Given the description of an element on the screen output the (x, y) to click on. 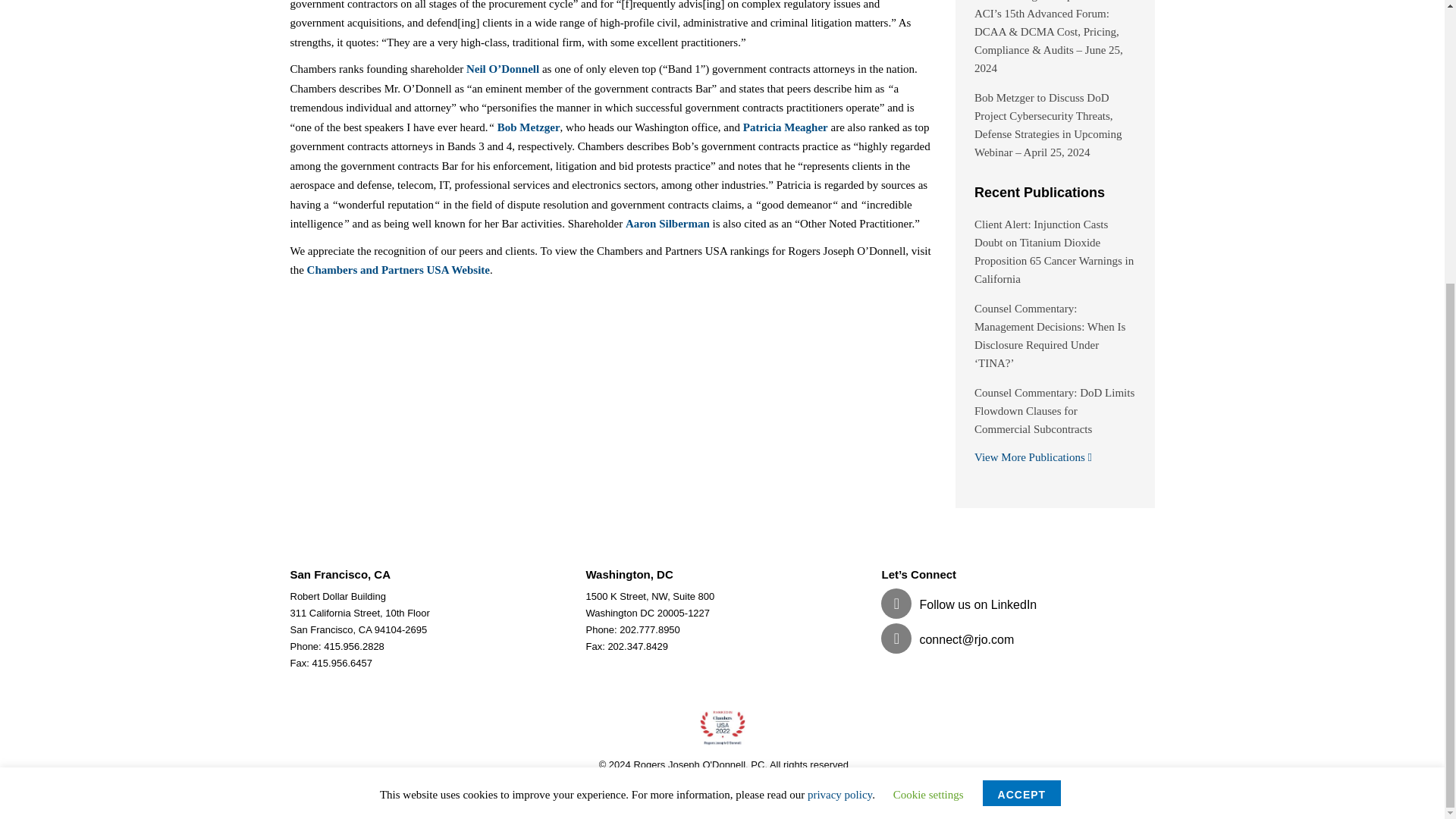
Privacy Policy (694, 781)
View More Publications (1033, 457)
Chambers and Partners USA Website (398, 269)
Bob Metzger (528, 127)
Follow us on LinkedIn (958, 604)
Patricia Meagher (785, 127)
Disclaimer (756, 781)
Aaron Silberman (668, 223)
